Given the description of an element on the screen output the (x, y) to click on. 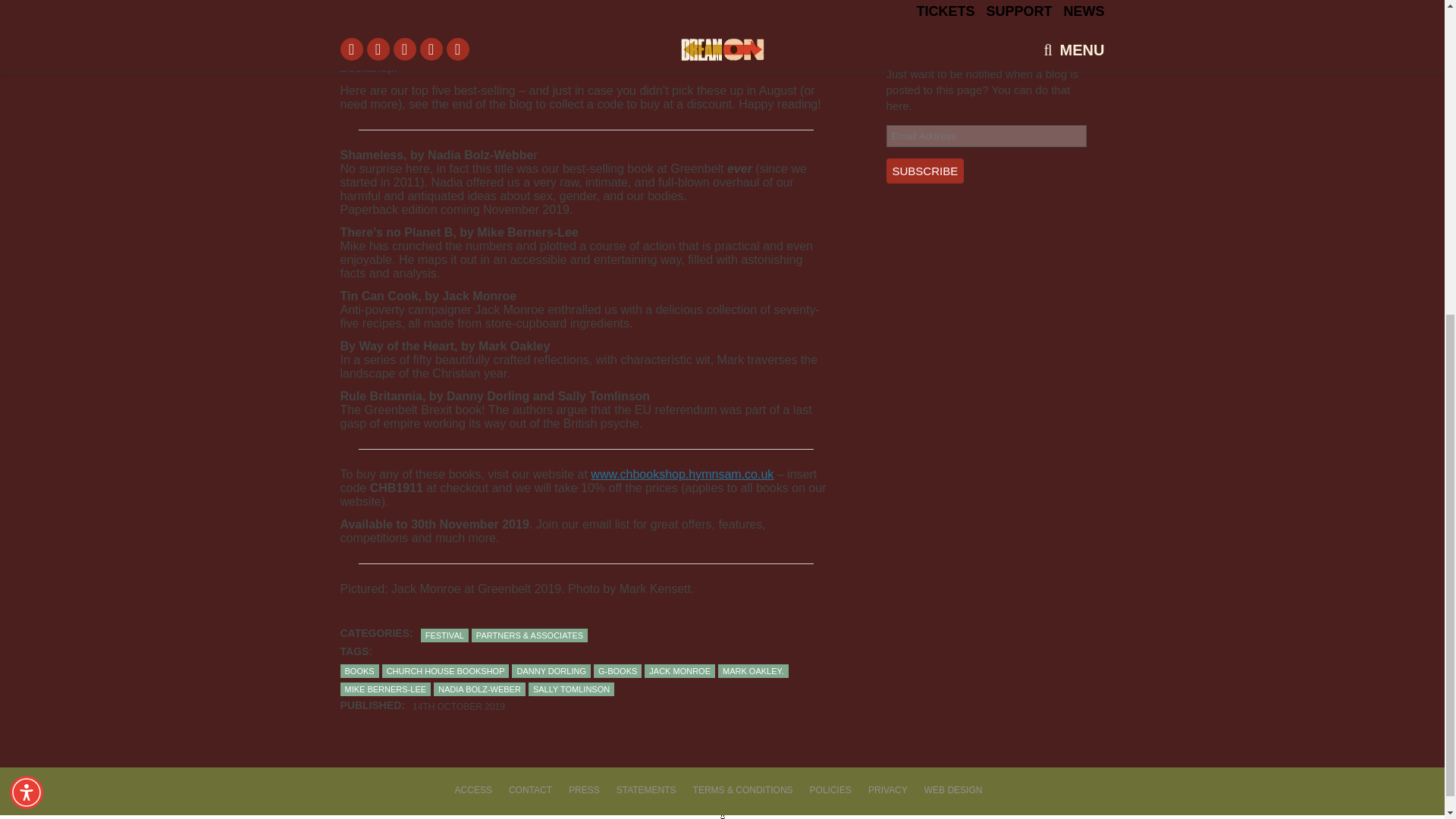
Accessibility Menu (26, 274)
